Given the description of an element on the screen output the (x, y) to click on. 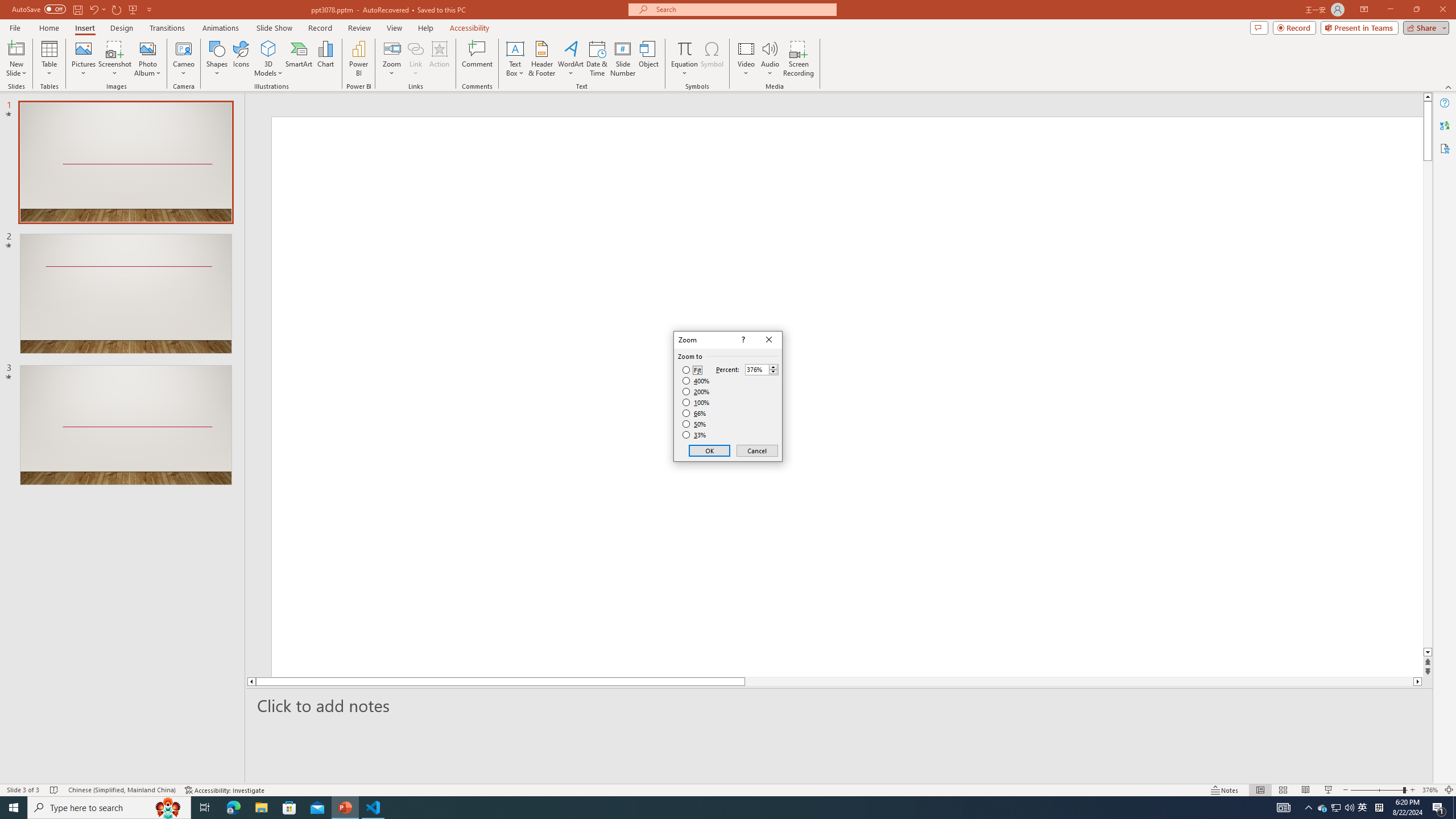
Task View (204, 807)
Q2790: 100% (1349, 807)
Notification Chevron (1308, 807)
SmartArt... (298, 58)
Slide Number (1322, 807)
Pictures (622, 58)
Microsoft Store (83, 58)
Line down (289, 807)
200% (1362, 807)
Translator (1427, 652)
